Given the description of an element on the screen output the (x, y) to click on. 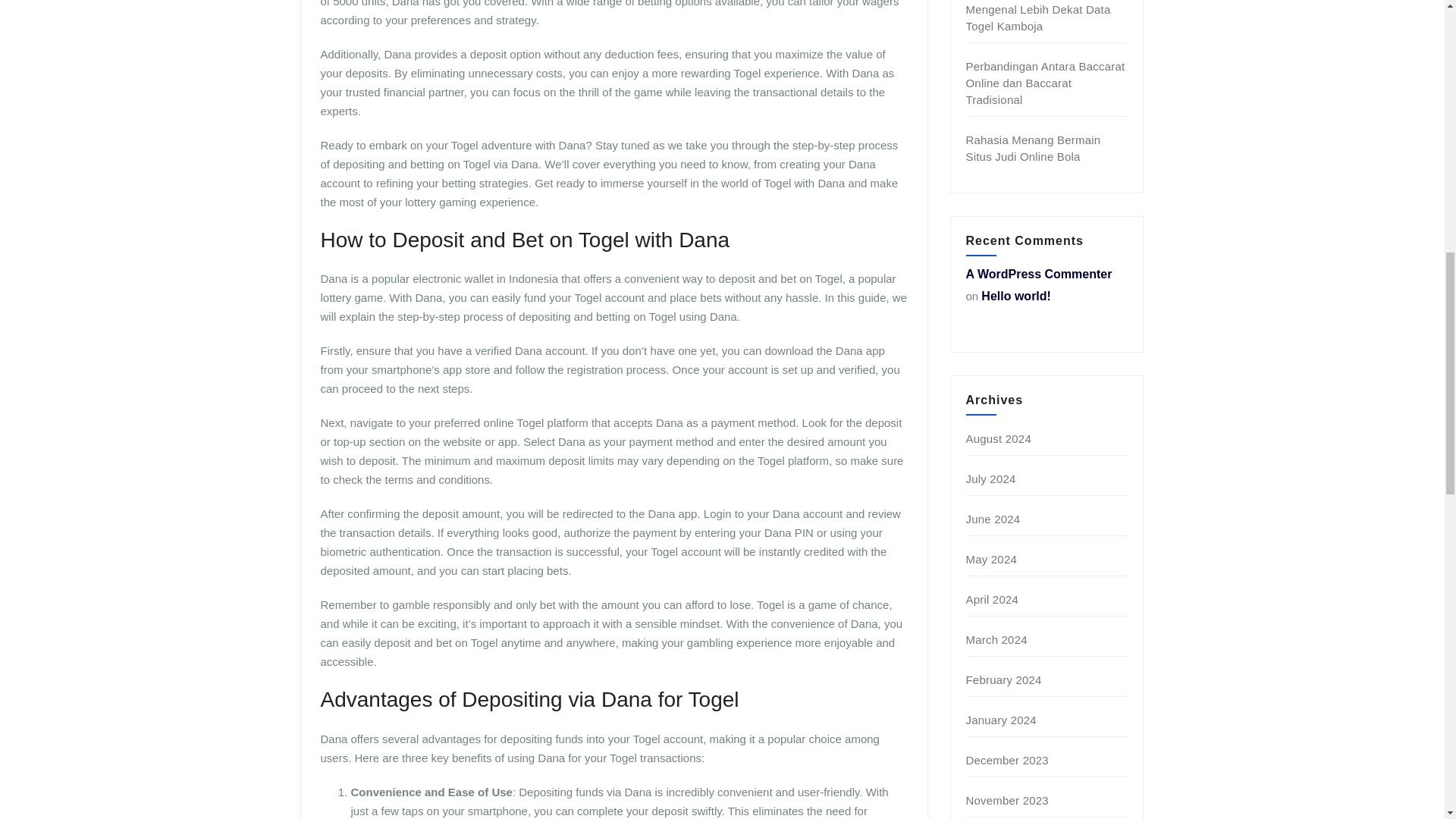
December 2023 (1007, 759)
Rahasia Menang Bermain Situs Judi Online Bola (1033, 147)
February 2024 (1004, 679)
April 2024 (992, 599)
August 2024 (998, 438)
Mengenal Lebih Dekat Data Togel Kamboja (1038, 17)
Perbandingan Antara Baccarat Online dan Baccarat Tradisional (1045, 82)
Hello world! (1016, 295)
July 2024 (991, 478)
November 2023 (1007, 799)
May 2024 (991, 558)
June 2024 (993, 518)
A WordPress Commenter (1039, 273)
March 2024 (996, 639)
January 2024 (1001, 719)
